Given the description of an element on the screen output the (x, y) to click on. 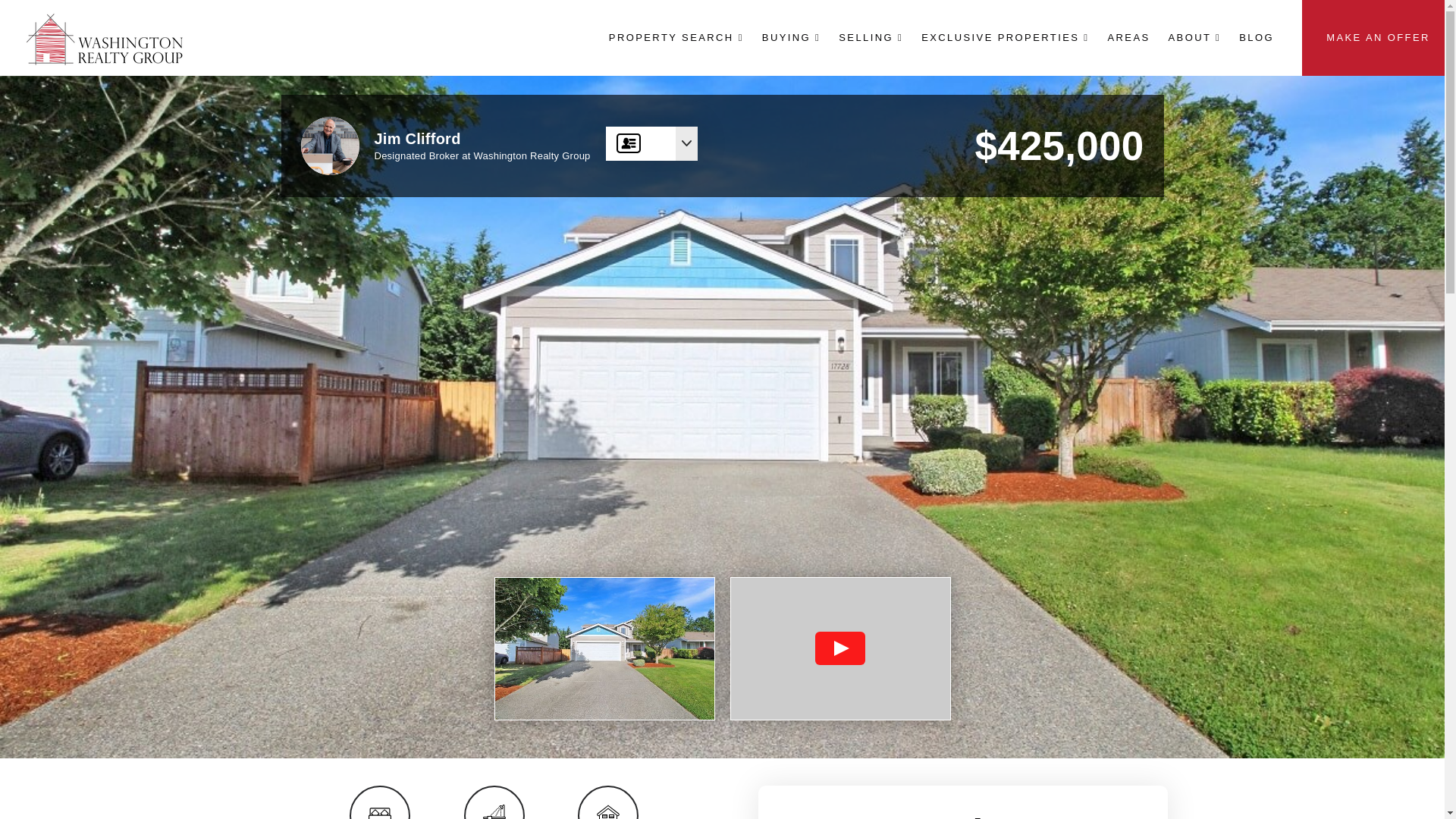
SELLING (870, 37)
AREAS (1127, 37)
BUYING (790, 37)
PROPERTY SEARCH (675, 37)
EXCLUSIVE PROPERTIES (1004, 37)
ABOUT (1194, 37)
